Given the description of an element on the screen output the (x, y) to click on. 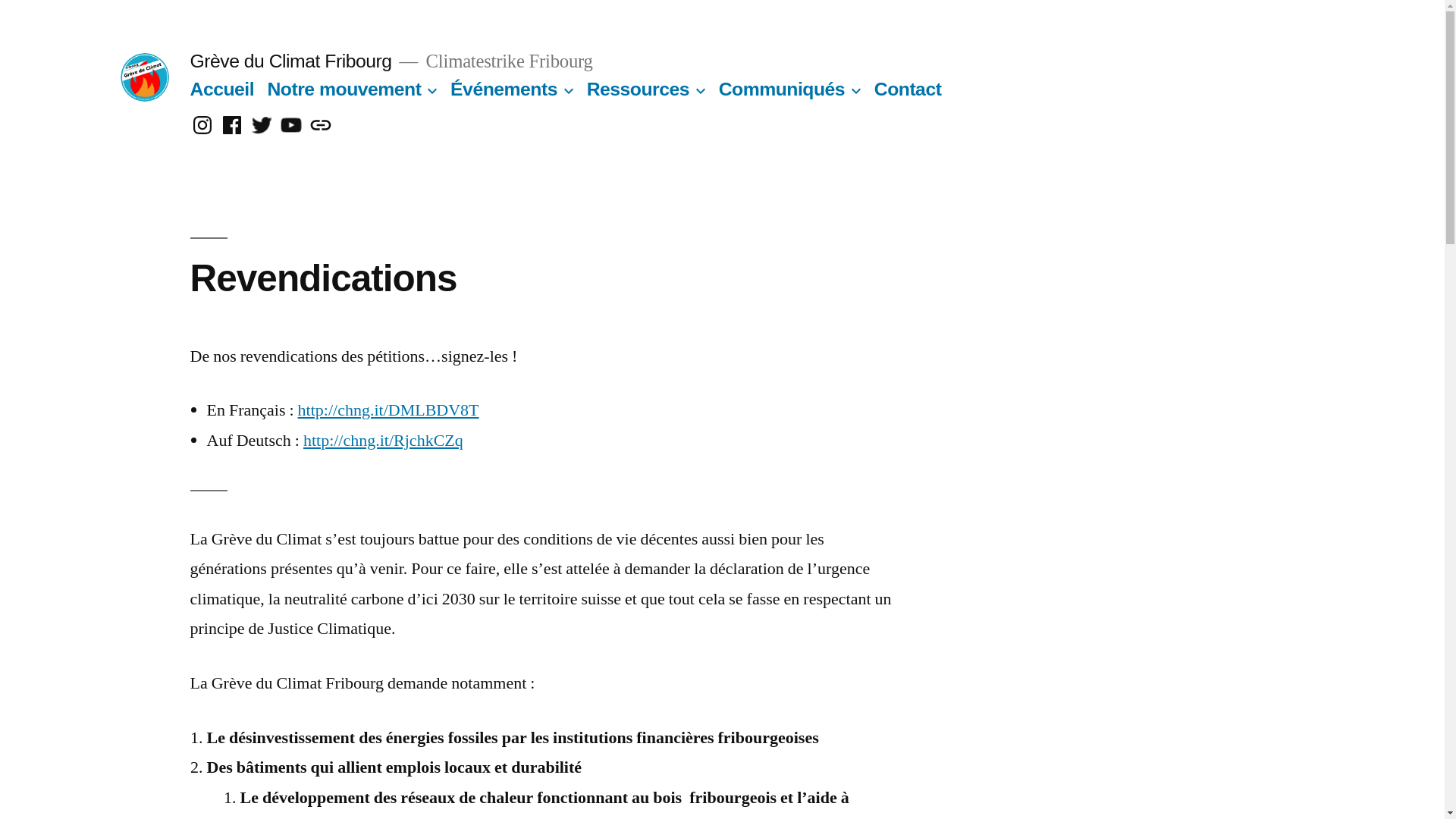
Contact Element type: text (907, 88)
Ressources Element type: text (637, 88)
Instagram Element type: text (201, 125)
http://chng.it/RjchkCZq Element type: text (383, 440)
Site national Element type: text (320, 125)
Twitter Element type: text (261, 125)
Youtube Element type: text (291, 125)
Notre mouvement Element type: text (343, 88)
http://chng.it/DMLBDV8T Element type: text (388, 409)
Facebook Element type: text (231, 125)
Accueil Element type: text (221, 88)
